Given the description of an element on the screen output the (x, y) to click on. 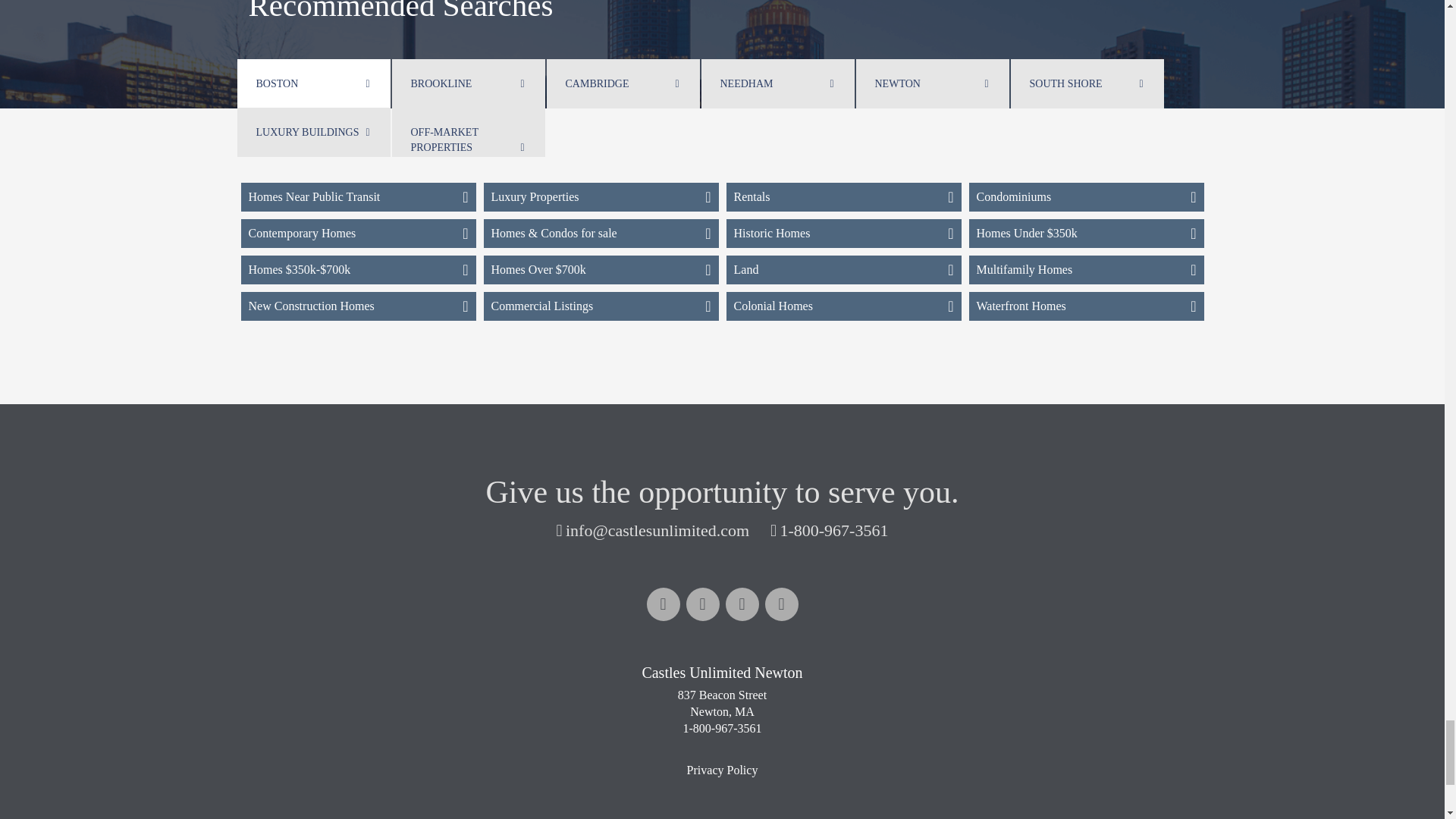
Boston MA Homes Near Public Transit (358, 196)
Boston MA Historic Homes (843, 233)
Boston MA Rentals (843, 196)
Boston MA Condos for Sale (1086, 196)
Boston MA Land for Sale (843, 269)
Boston MA Contemporary Homes (358, 233)
Boston Luxury Real Estate Listings (601, 196)
